Given the description of an element on the screen output the (x, y) to click on. 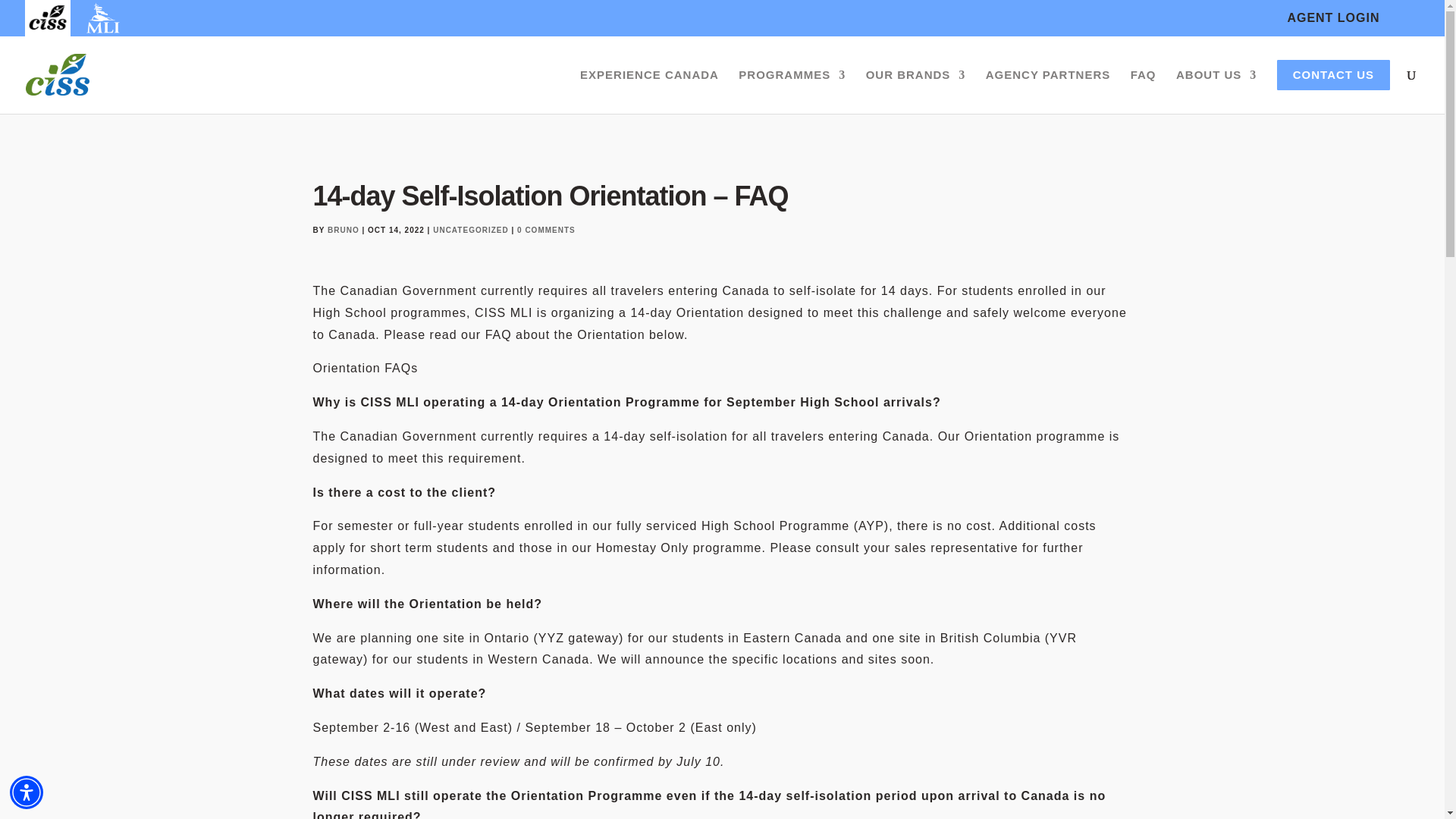
AGENCY PARTNERS (1047, 91)
OUR BRANDS (916, 91)
AGENT LOGIN (1332, 17)
Posts by Bruno (343, 230)
EXPERIENCE CANADA (649, 91)
Accessibility Menu (26, 792)
CONTACT US (1333, 91)
ABOUT US (1216, 91)
PROGRAMMES (791, 91)
